Given the description of an element on the screen output the (x, y) to click on. 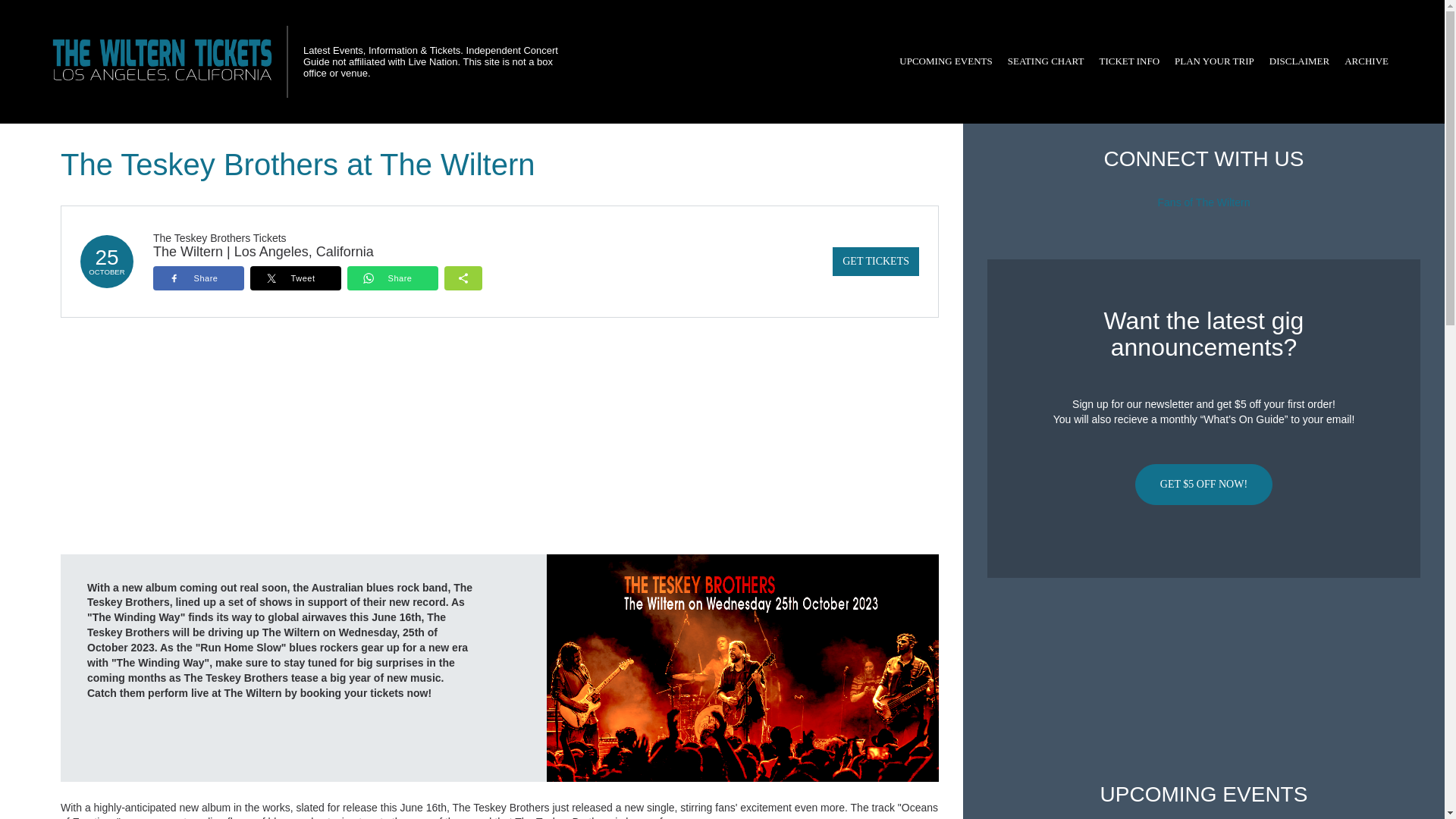
ARCHIVE (1366, 61)
UPCOMING EVENTS (944, 61)
Fans of The Wiltern (1203, 202)
The Teskey Brothers at The Wiltern (743, 667)
GET TICKETS (875, 261)
PLAN YOUR TRIP (1214, 61)
SEATING CHART (1046, 61)
The Teskey Brothers Tickets (219, 237)
DISCLAIMER (1299, 61)
Advertisement (1204, 680)
TICKET INFO (1128, 61)
